Given the description of an element on the screen output the (x, y) to click on. 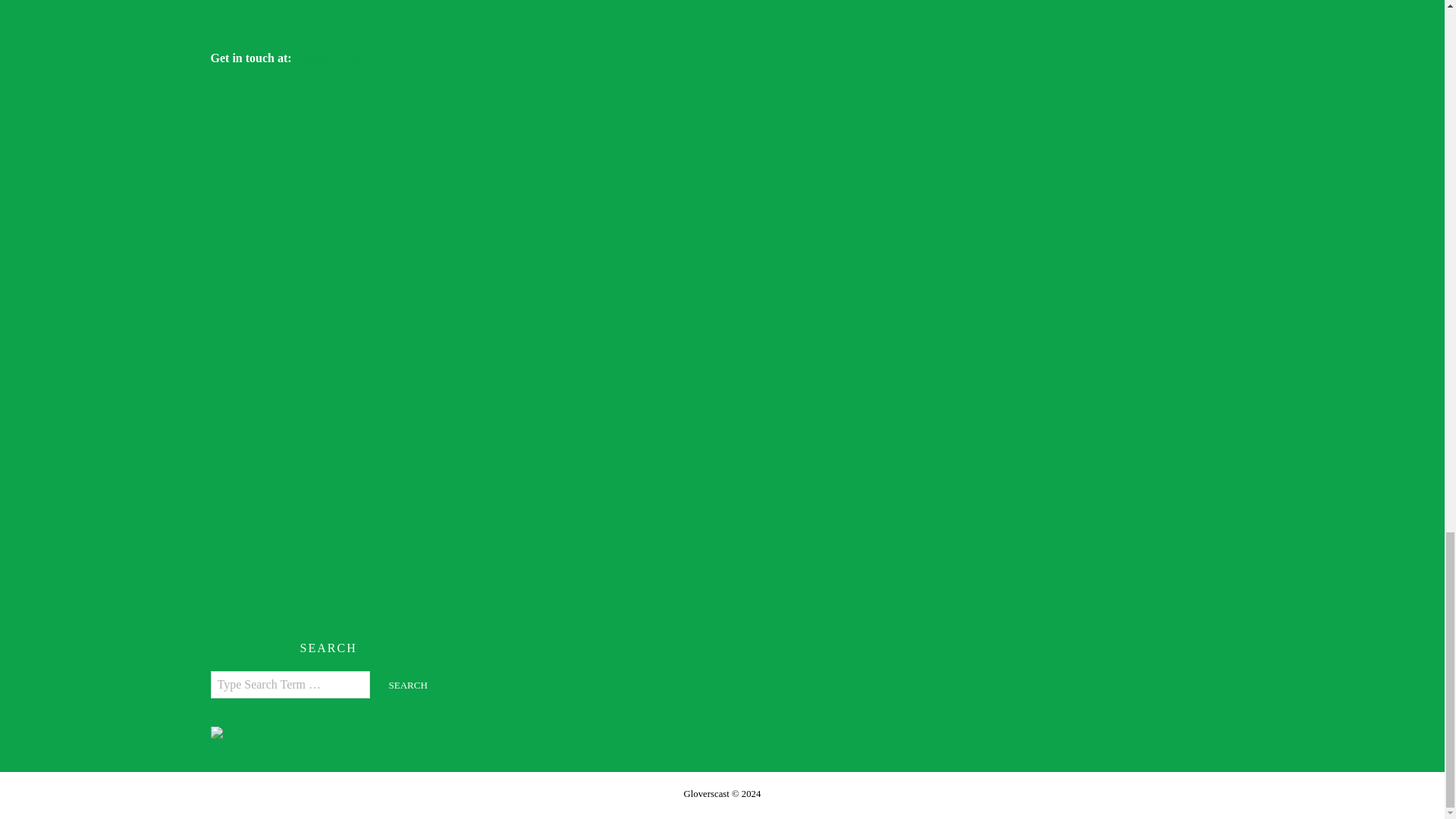
Search (407, 685)
